Given the description of an element on the screen output the (x, y) to click on. 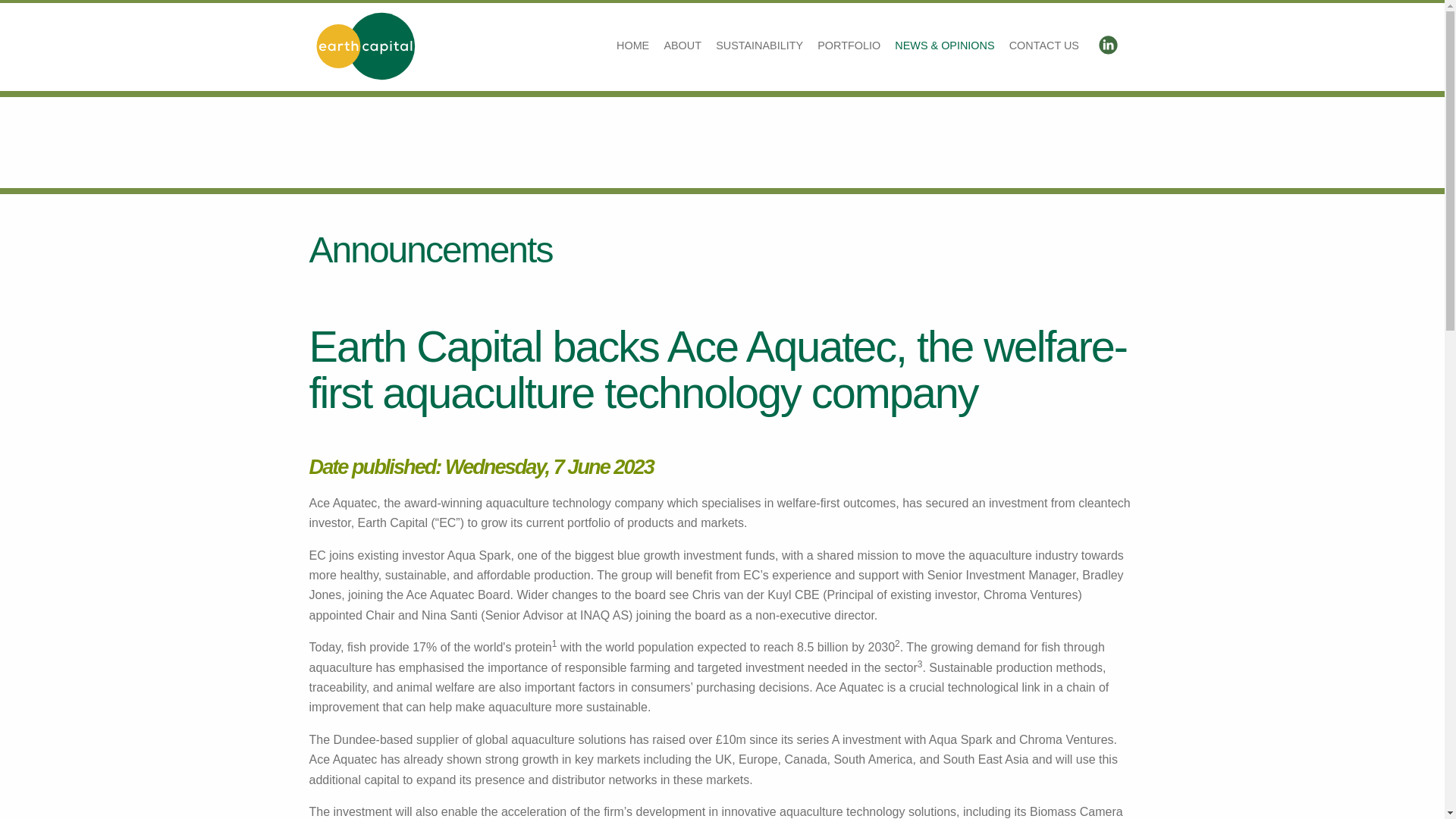
EC Home Page (632, 45)
CONTACT US (1043, 45)
About Earth Capital (682, 45)
SUSTAINABILITY (759, 45)
ABOUT (682, 45)
HOME (632, 45)
PORTFOLIO (849, 45)
Visit EC on LinkedIn (1107, 47)
